Given the description of an element on the screen output the (x, y) to click on. 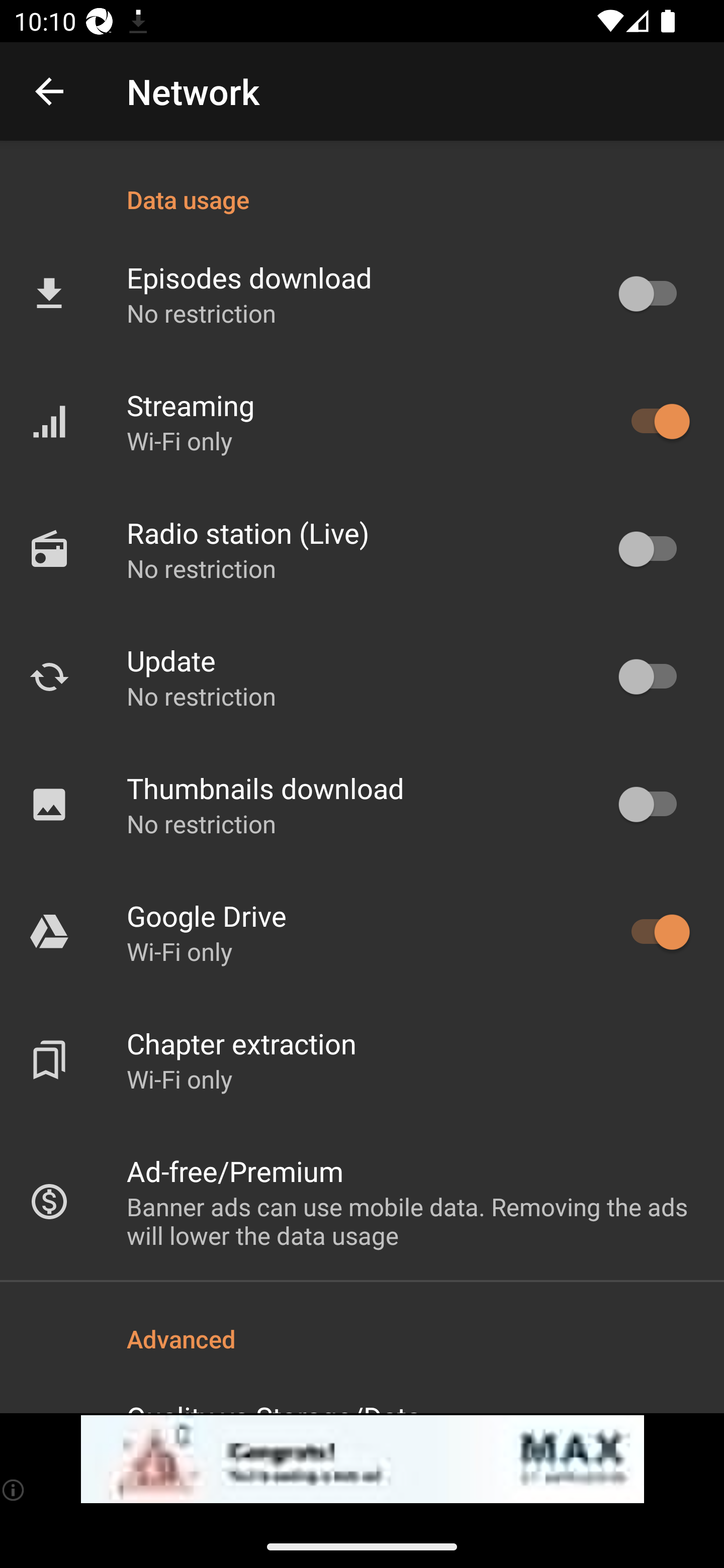
Navigate up (49, 91)
Episodes download No restriction (362, 293)
Streaming Wi-Fi only (362, 421)
Radio station (Live) No restriction (362, 549)
Update No restriction (362, 676)
Thumbnails download No restriction (362, 804)
Google Drive Wi-Fi only (362, 931)
Chapter extraction Wi-Fi only (362, 1059)
app-monetization (362, 1459)
(i) (14, 1489)
